Given the description of an element on the screen output the (x, y) to click on. 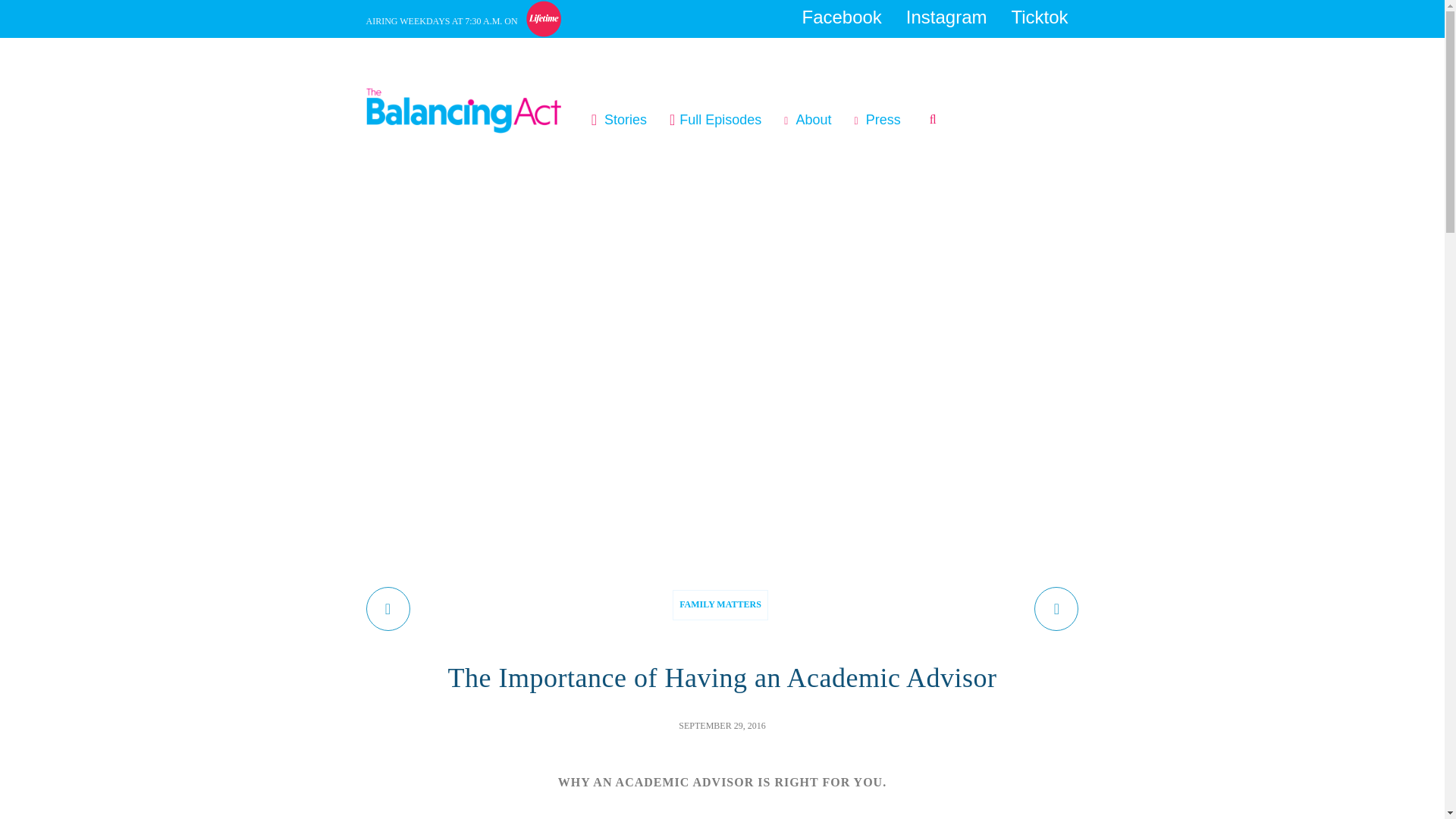
Press (883, 119)
FAMILY MATTERS (720, 603)
Full Episodes (721, 119)
Threads (1059, 48)
Full Episodes (721, 119)
Ticktok (1038, 17)
Search (936, 119)
Youtube (994, 47)
Instagram (946, 17)
Twitter (931, 48)
The Balancing Act (470, 91)
Press (883, 119)
About (812, 119)
Stories (624, 119)
LinkedIn (864, 47)
